Given the description of an element on the screen output the (x, y) to click on. 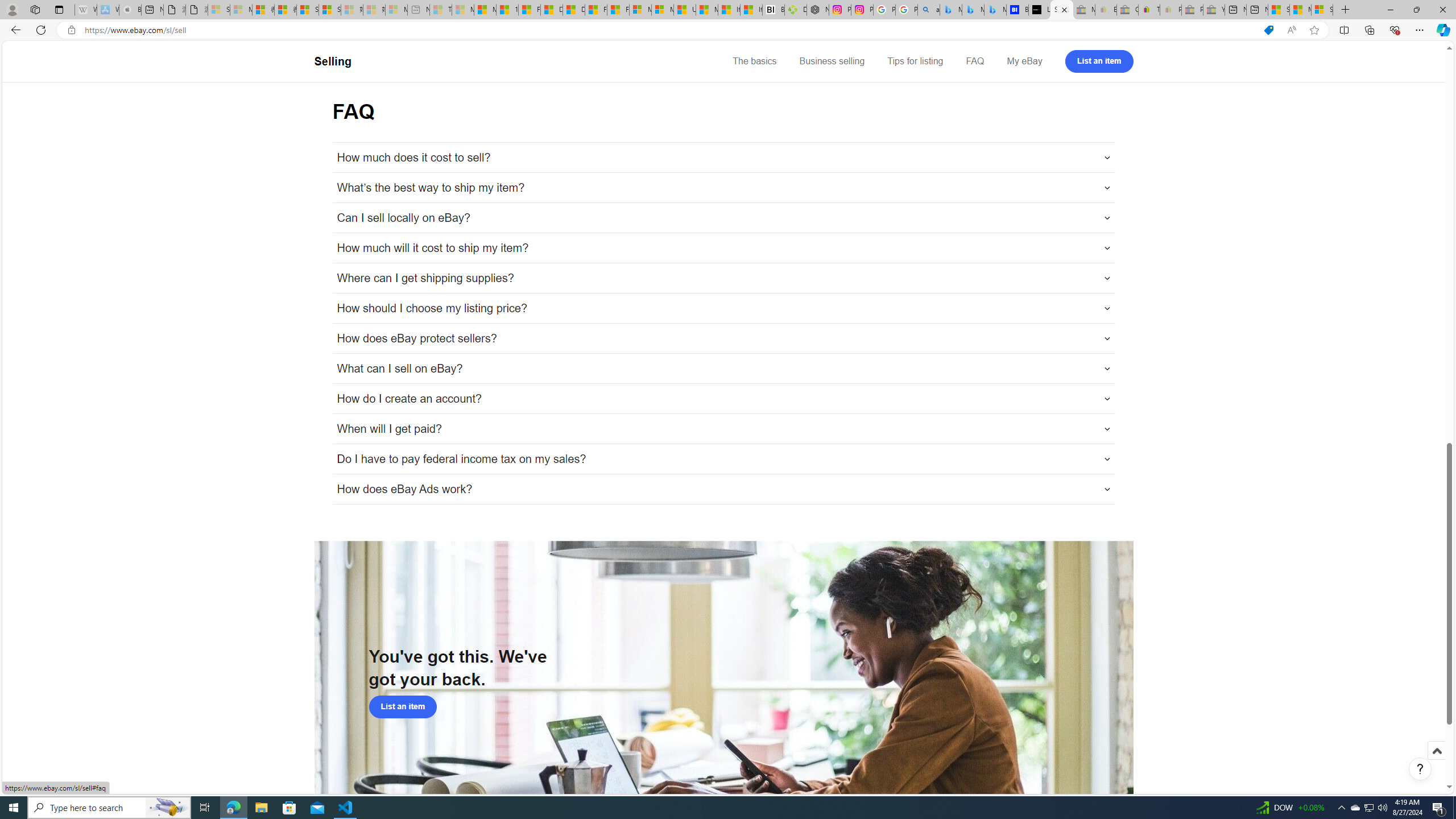
Do I have to pay federal income tax on my sales? (723, 458)
How much does it cost to sell? (723, 157)
What can I sell on eBay? (723, 368)
List an item (1099, 60)
How much does it cost to sell? (723, 156)
Scroll to top (1435, 750)
Sign in to your Microsoft account (1322, 9)
How do I create an account? (723, 398)
Threats and offensive language policy | eBay (1149, 9)
The basics (754, 60)
